Given the description of an element on the screen output the (x, y) to click on. 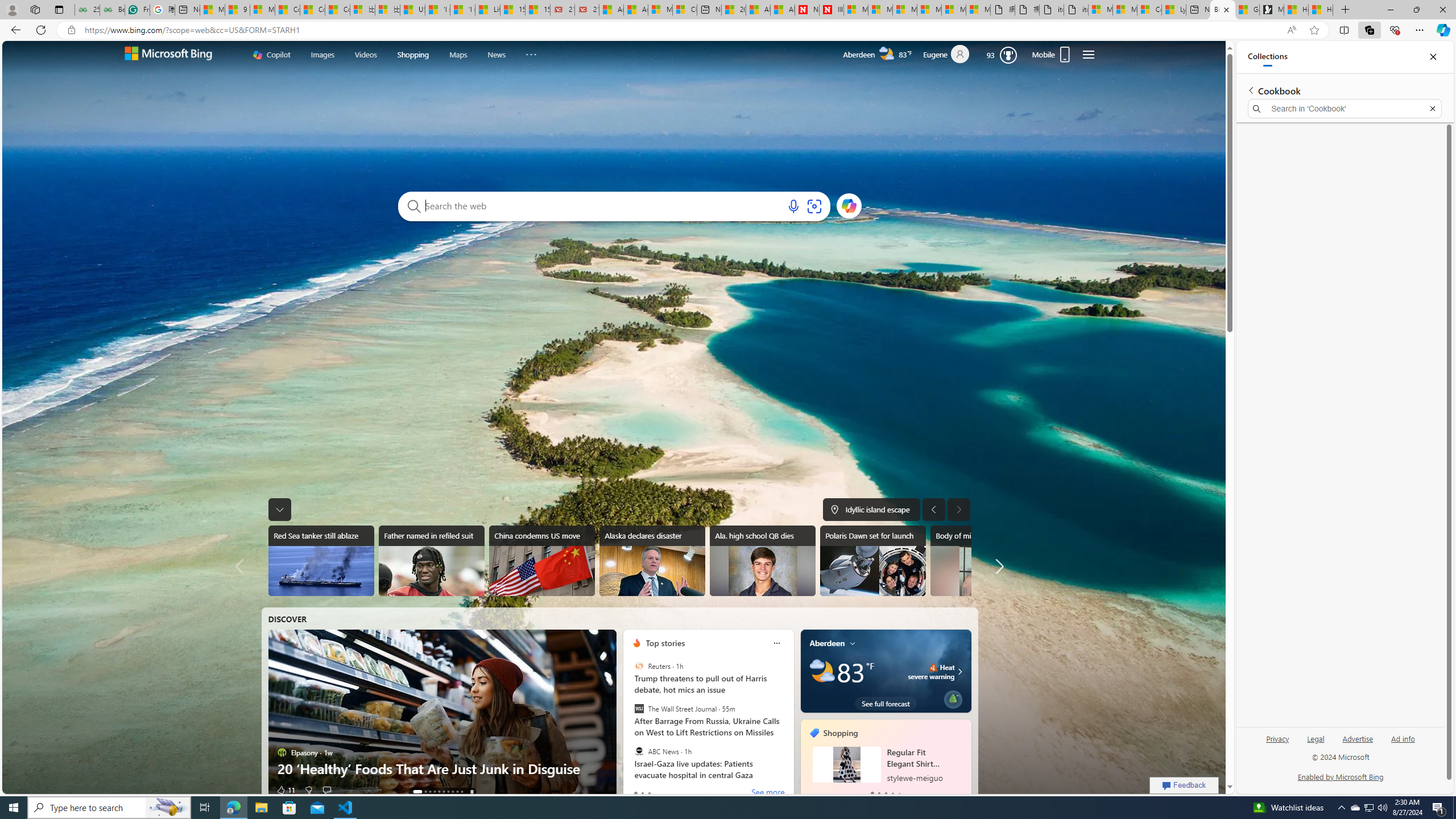
Illness news & latest pictures from Newsweek.com (830, 9)
AutomationID: tab-9 (462, 791)
View comments 34 Comment (326, 789)
21 Movies That Outdid the Books They Were Based On (586, 9)
Cloud Computing Services | Microsoft Azure (684, 9)
AutomationID: tab-1 (422, 791)
Class: weather-arrow-glyph (960, 671)
